Given the description of an element on the screen output the (x, y) to click on. 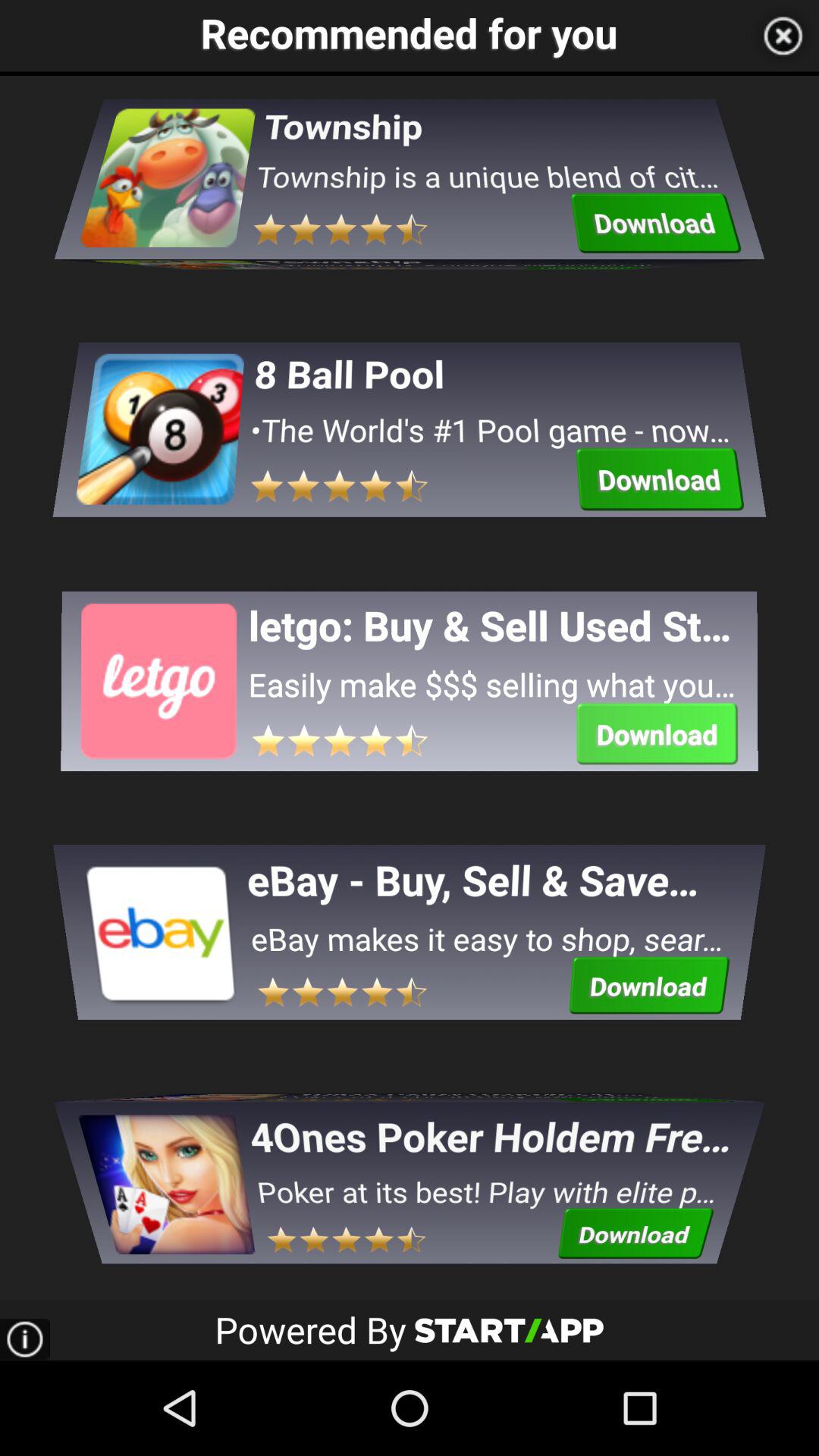
click on the 5th image from top (164, 1165)
